Given the description of an element on the screen output the (x, y) to click on. 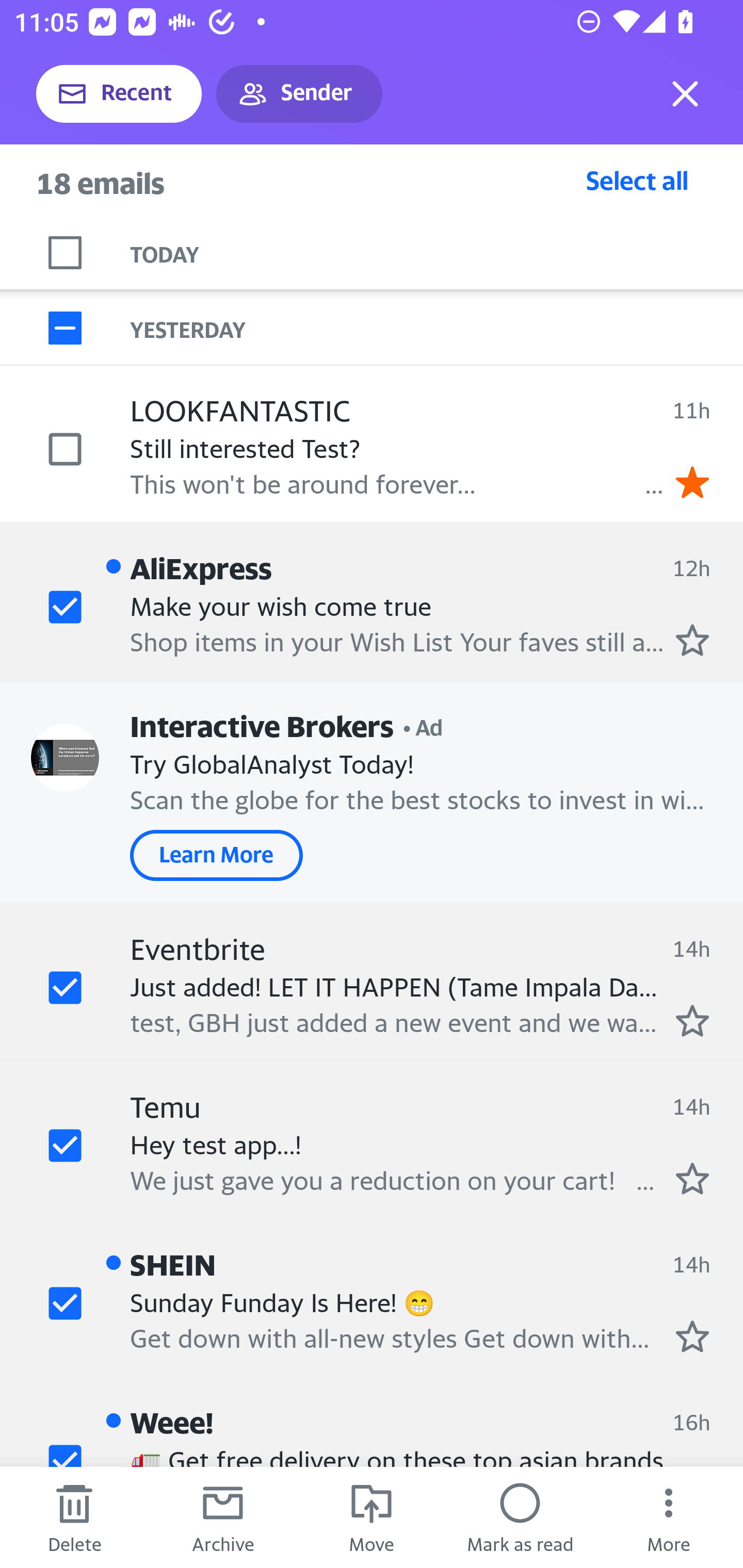
Sender (299, 93)
Exit selection mode (684, 93)
Select all (637, 180)
YESTERDAY (436, 328)
Remove star. (692, 482)
Mark as starred. (692, 640)
Mark as starred. (692, 1019)
Mark as starred. (692, 1178)
Mark as starred. (692, 1336)
Delete (74, 1517)
Archive (222, 1517)
Move (371, 1517)
Mark as read (519, 1517)
More (668, 1517)
